Given the description of an element on the screen output the (x, y) to click on. 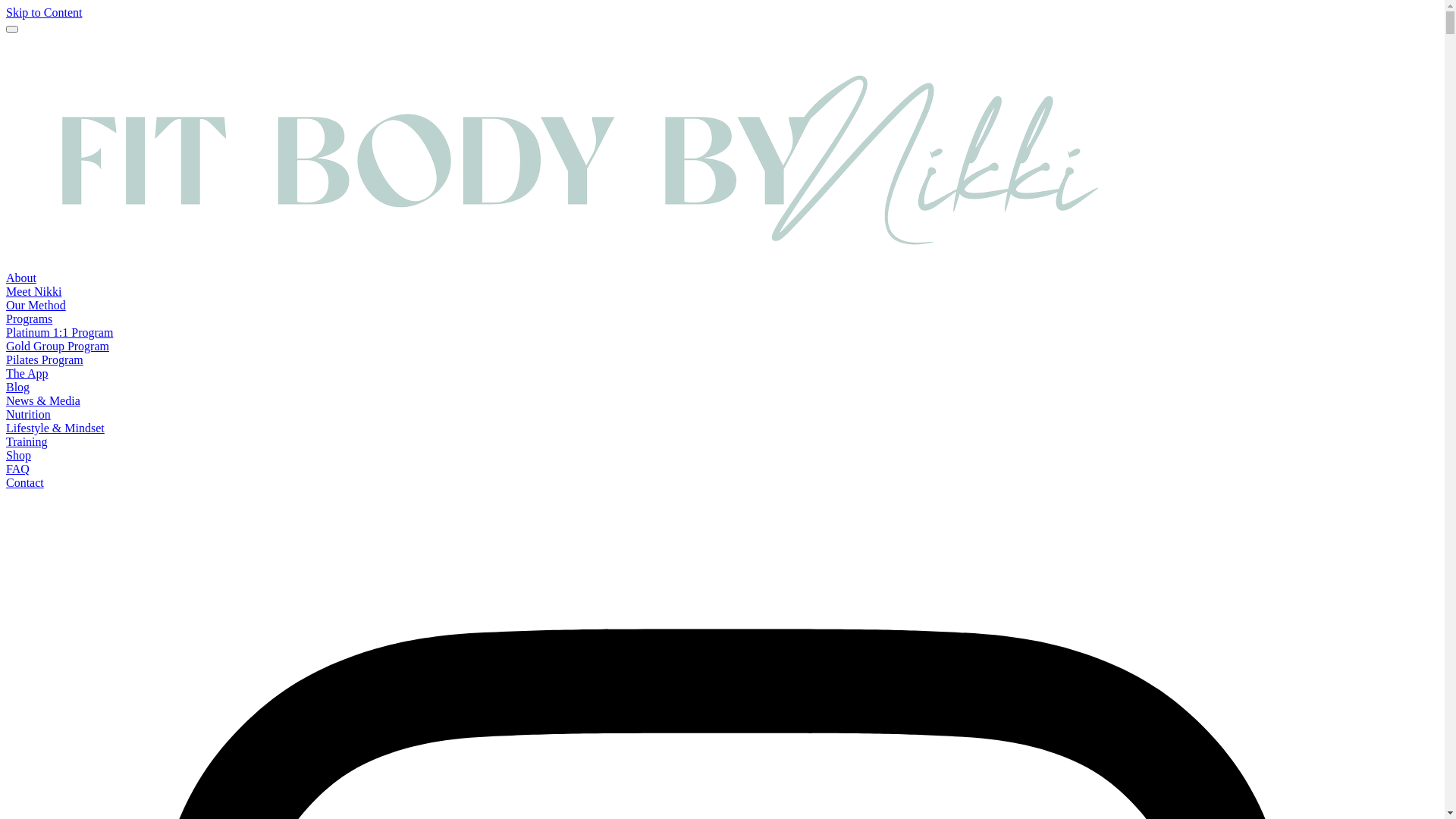
Lifestyle & Mindset Element type: text (55, 427)
Blog Element type: text (17, 386)
Meet Nikki Element type: text (33, 291)
Gold Group Program Element type: text (57, 345)
Shop Element type: text (18, 454)
Programs Element type: text (29, 318)
FAQ Element type: text (17, 468)
Pilates Program Element type: text (44, 359)
About Element type: text (21, 277)
The App Element type: text (27, 373)
News & Media Element type: text (43, 400)
Nutrition Element type: text (28, 413)
Platinum 1:1 Program Element type: text (59, 332)
Our Method Element type: text (35, 304)
Training Element type: text (26, 441)
Skip to Content Element type: text (43, 12)
Contact Element type: text (24, 482)
